Given the description of an element on the screen output the (x, y) to click on. 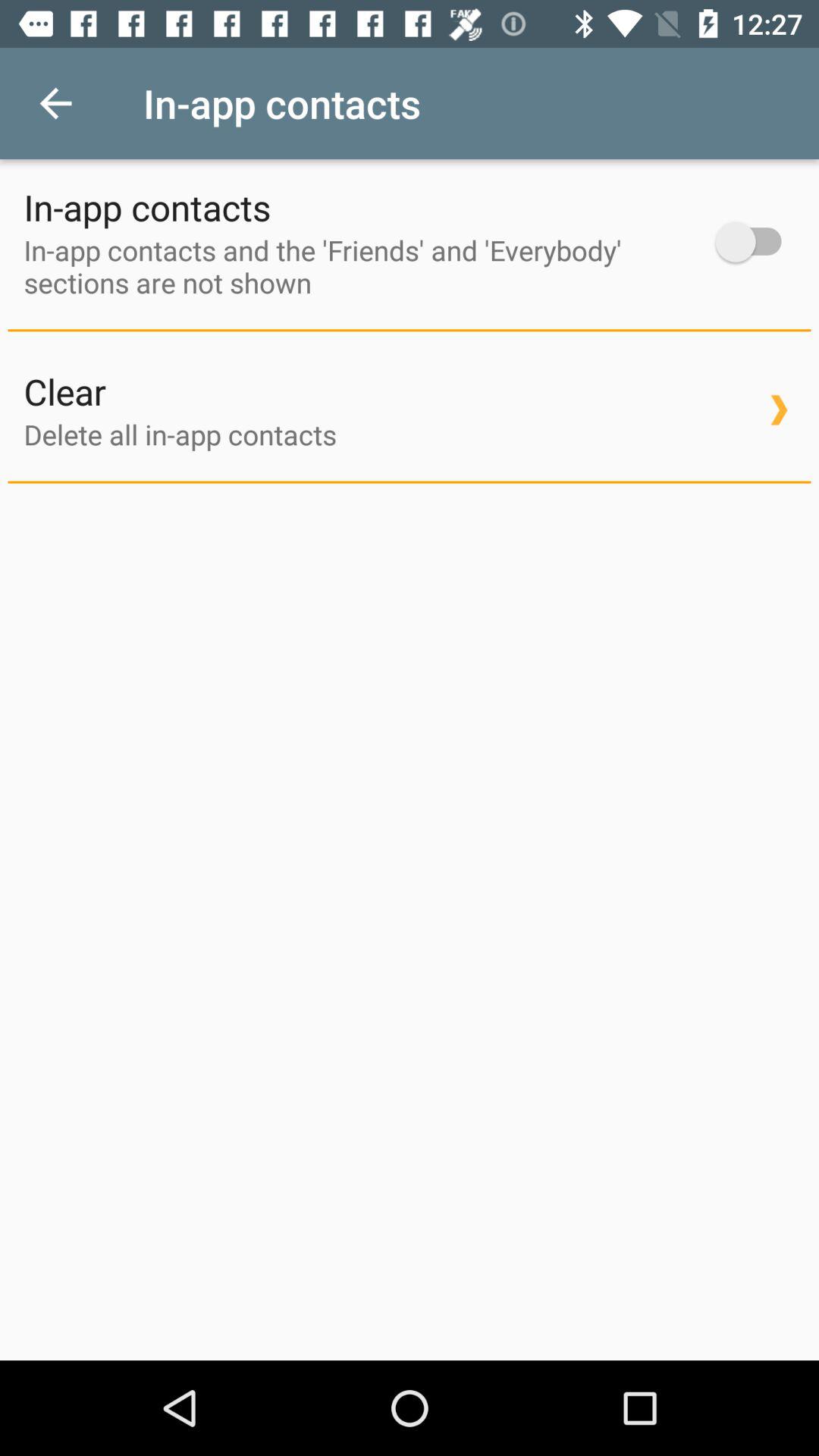
turn off the icon at the top left corner (55, 103)
